Given the description of an element on the screen output the (x, y) to click on. 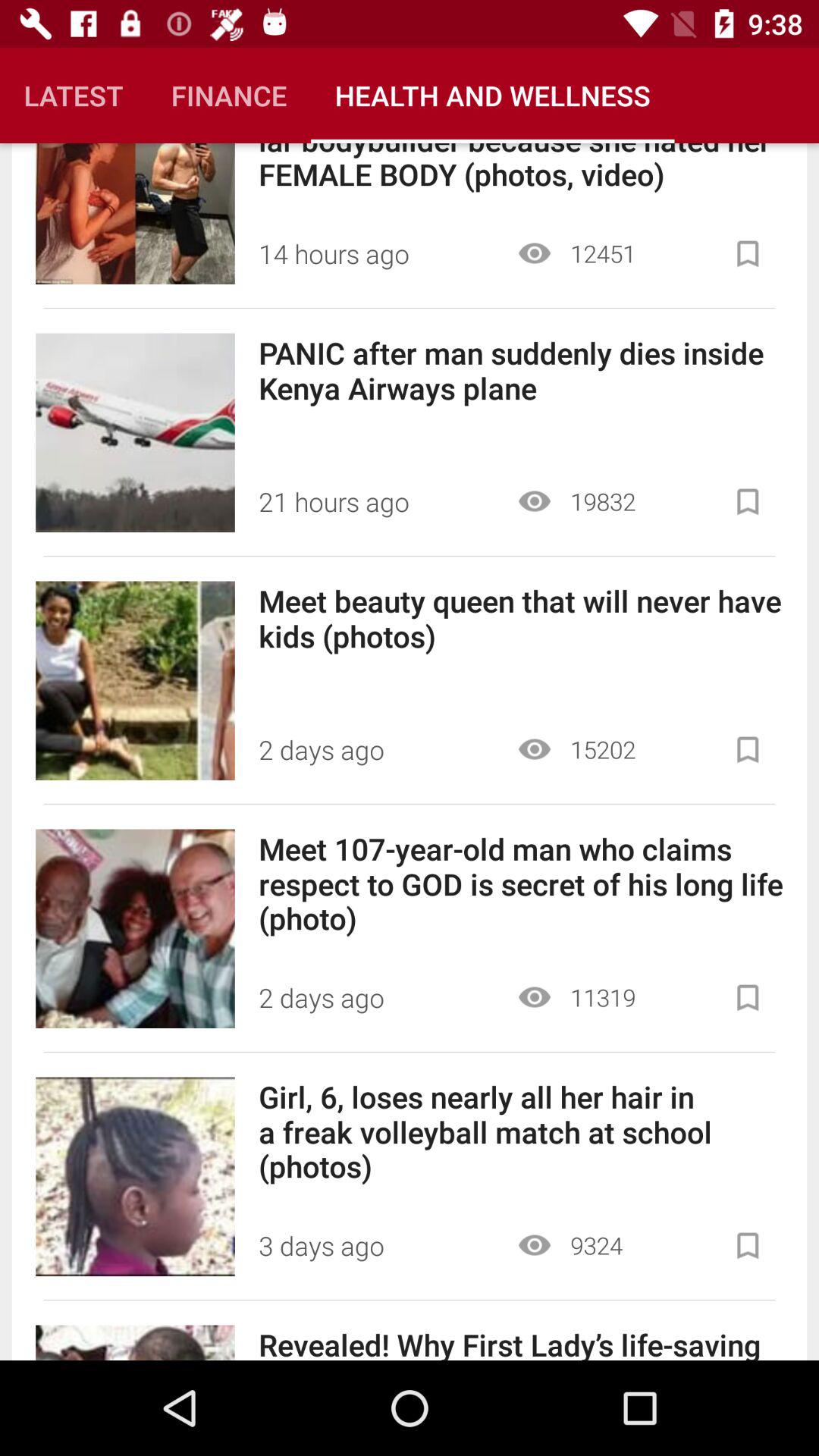
bookmark the article (747, 501)
